Given the description of an element on the screen output the (x, y) to click on. 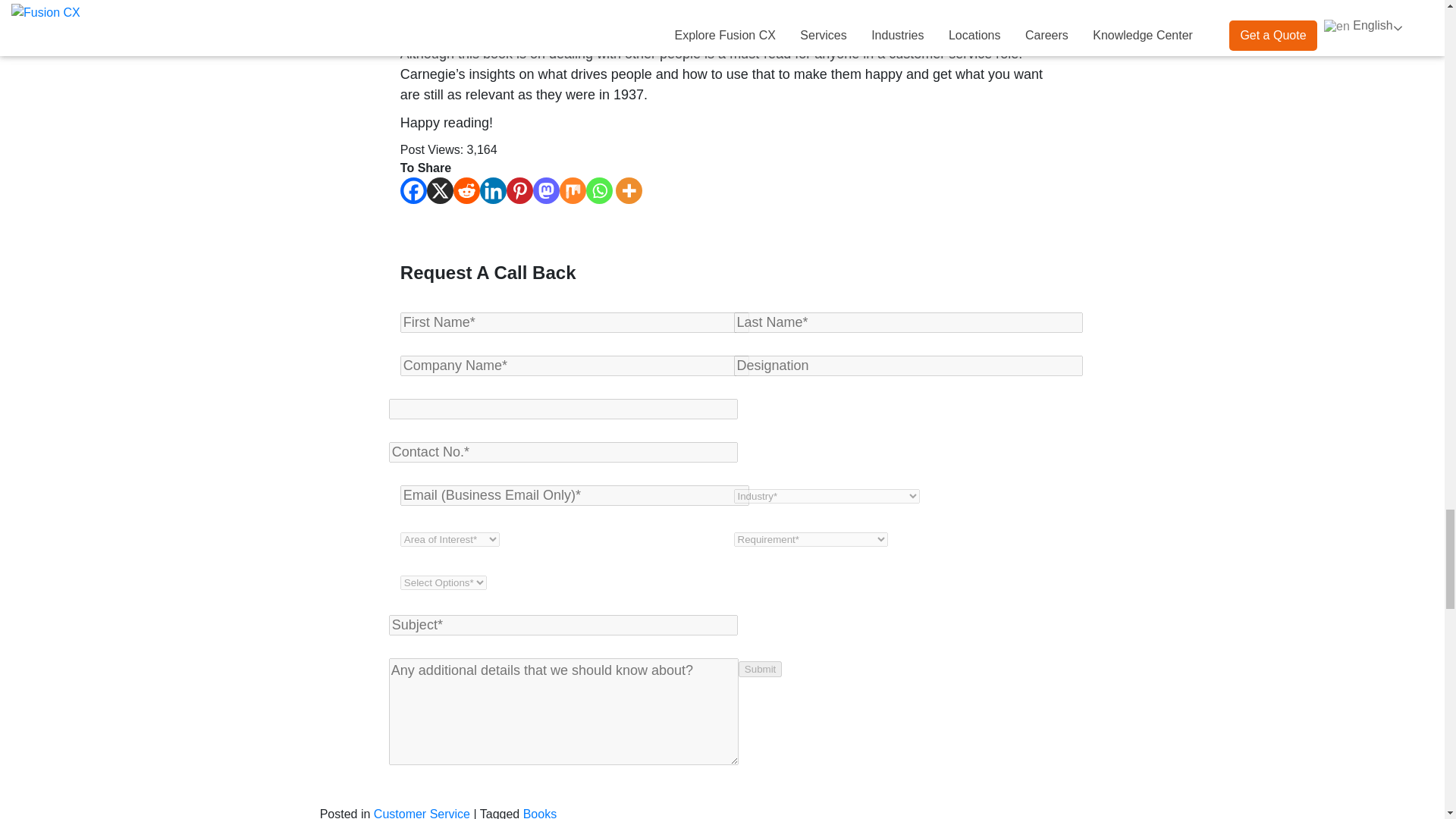
Linkedin (493, 190)
X (439, 190)
Reddit (466, 190)
Mastodon (545, 190)
Facebook (413, 190)
Pinterest (519, 190)
More (628, 190)
Mix (572, 190)
Whatsapp (599, 190)
